Given the description of an element on the screen output the (x, y) to click on. 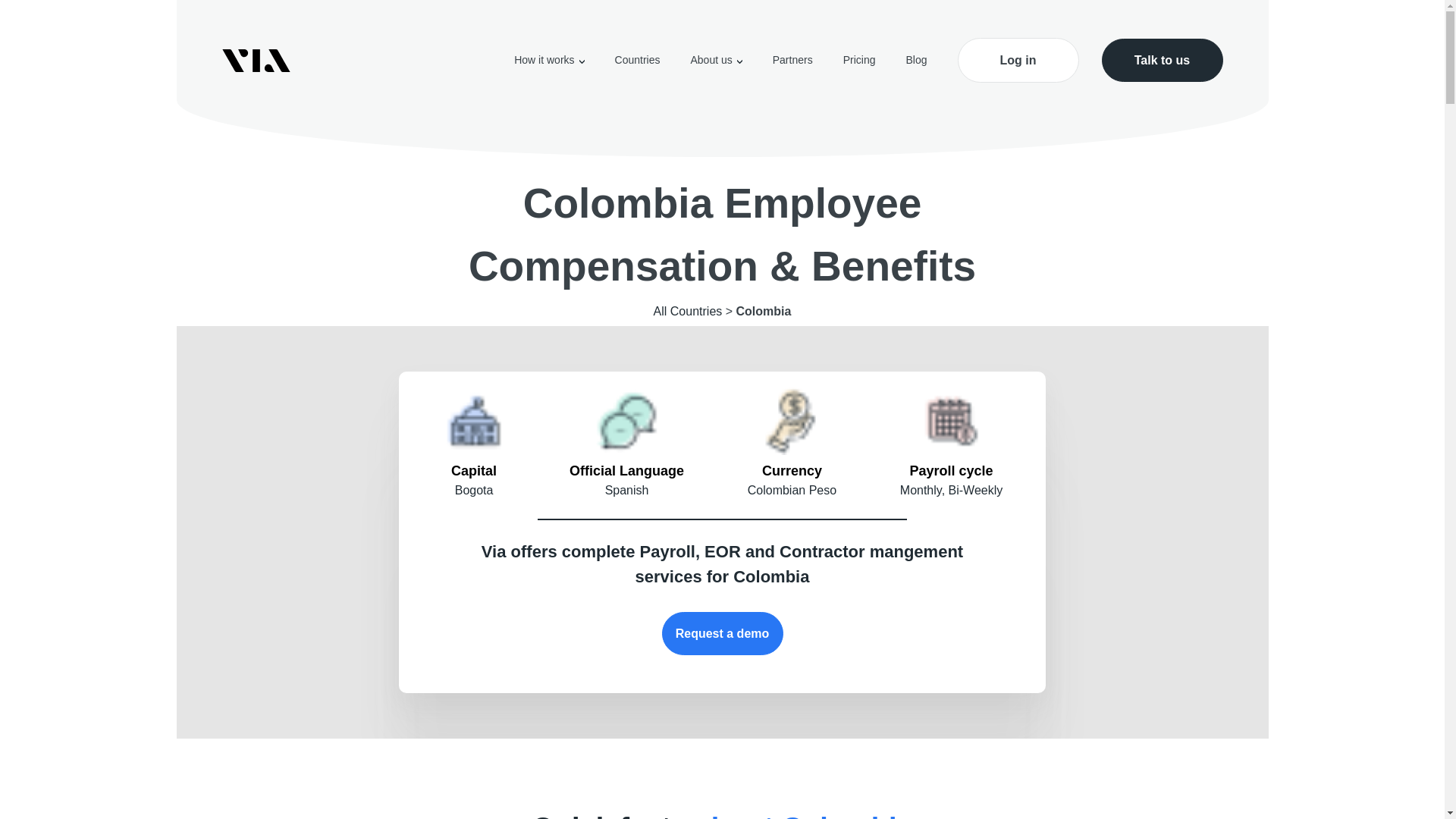
Blog (915, 60)
Partners (792, 60)
Log in (1017, 59)
Countries (637, 60)
Request a demo (722, 633)
Pricing (859, 60)
All Countries (687, 310)
Talk to us (1161, 59)
